Given the description of an element on the screen output the (x, y) to click on. 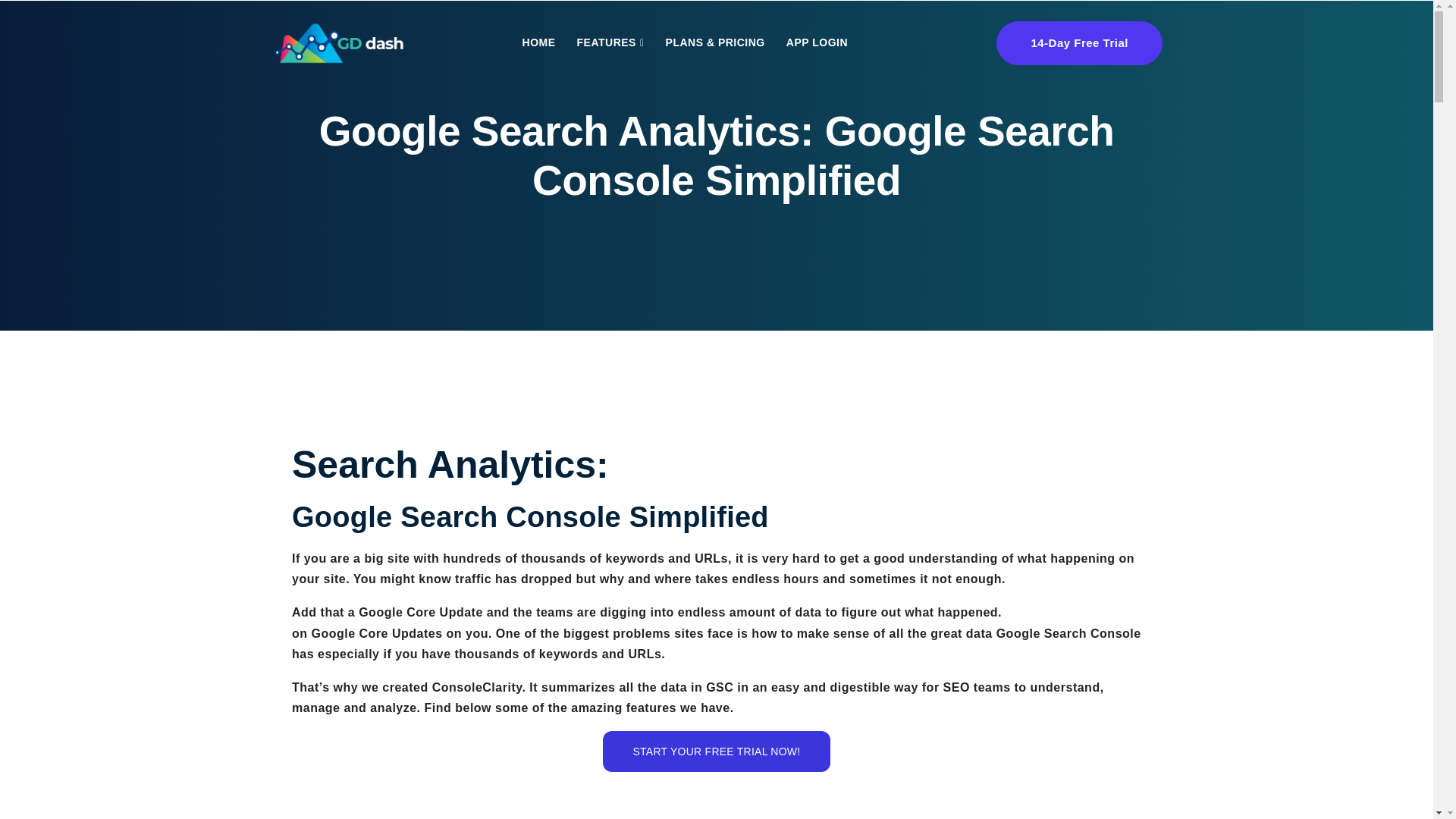
FEATURES (610, 42)
14-Day Free Trial (1078, 43)
Features (610, 42)
APP LOGIN (817, 41)
START YOUR FREE TRIAL NOW! (716, 751)
App Login (817, 41)
